Given the description of an element on the screen output the (x, y) to click on. 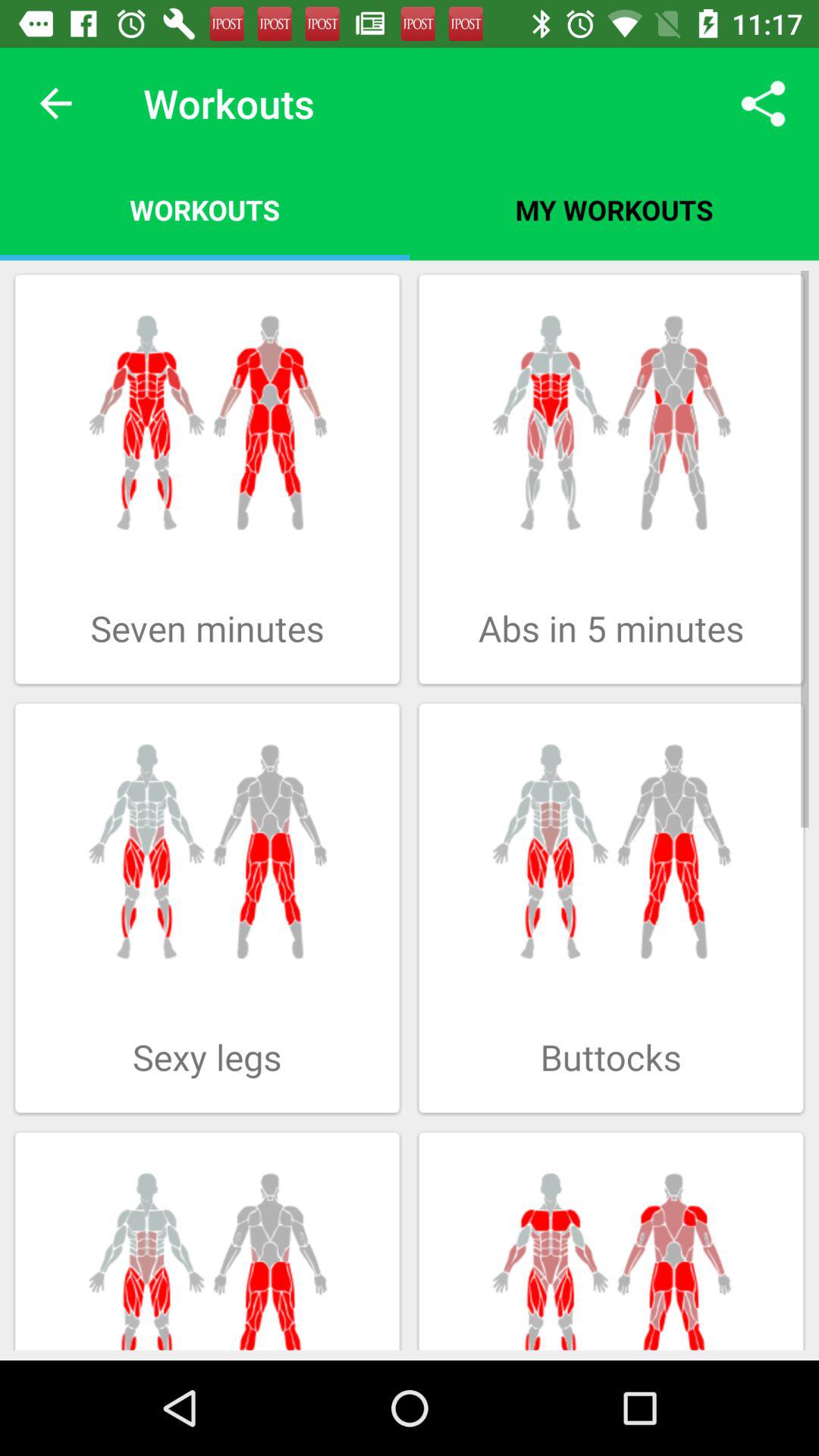
open icon above workouts app (55, 103)
